Given the description of an element on the screen output the (x, y) to click on. 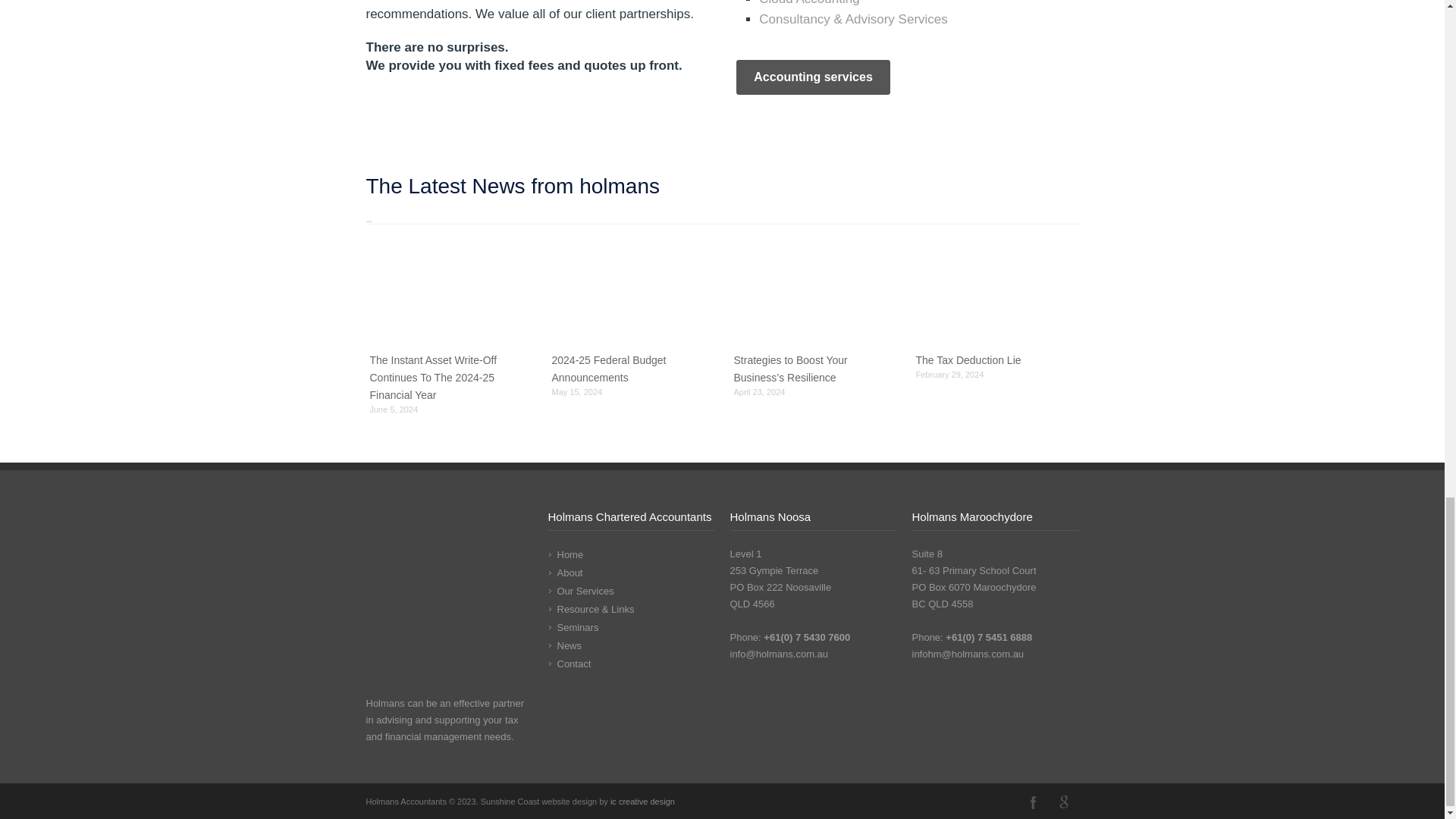
Our Services (584, 591)
About (569, 572)
2024-25 Federal Budget Announcements (630, 293)
News (568, 645)
Seminars (577, 627)
2024-25 Federal Budget Announcements (608, 368)
The Tax Deduction Lie (968, 359)
Contact (573, 663)
The Tax Deduction Lie (968, 359)
Accounting services (812, 77)
Home (569, 554)
2024-25 Federal Budget Announcements (608, 368)
